Given the description of an element on the screen output the (x, y) to click on. 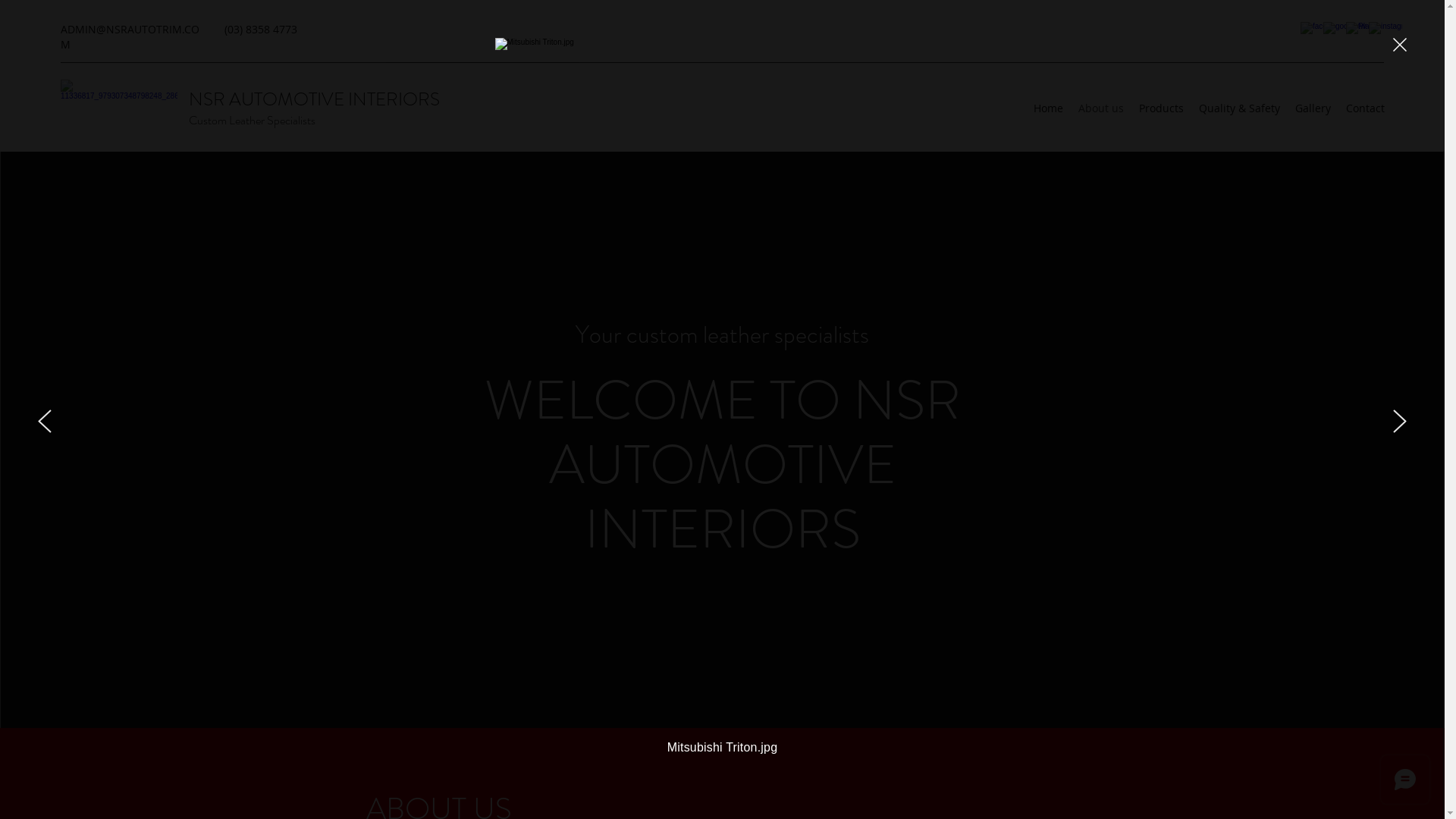
Products Element type: text (1161, 108)
About us Element type: text (1100, 108)
Gallery Element type: text (1312, 108)
Home Element type: text (1048, 108)
Contact Element type: text (1365, 108)
NSR AUTOMOTIVE INTERIORS Element type: text (313, 99)
ADMIN@NSRAUTOTRIM.COM Element type: text (129, 35)
Quality & Safety Element type: text (1239, 108)
